Given the description of an element on the screen output the (x, y) to click on. 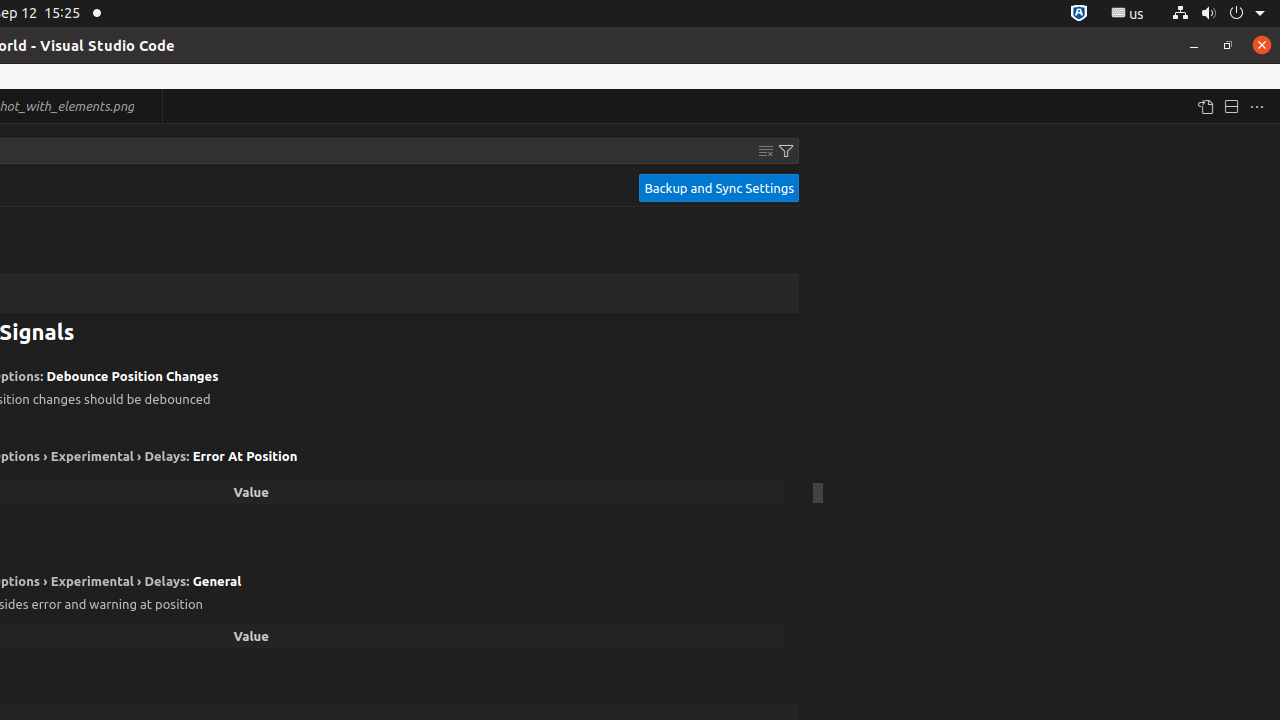
More Actions... Element type: push-button (1257, 106)
Close (Ctrl+W) Element type: push-button (148, 106)
Filter Settings Element type: push-button (786, 151)
